Given the description of an element on the screen output the (x, y) to click on. 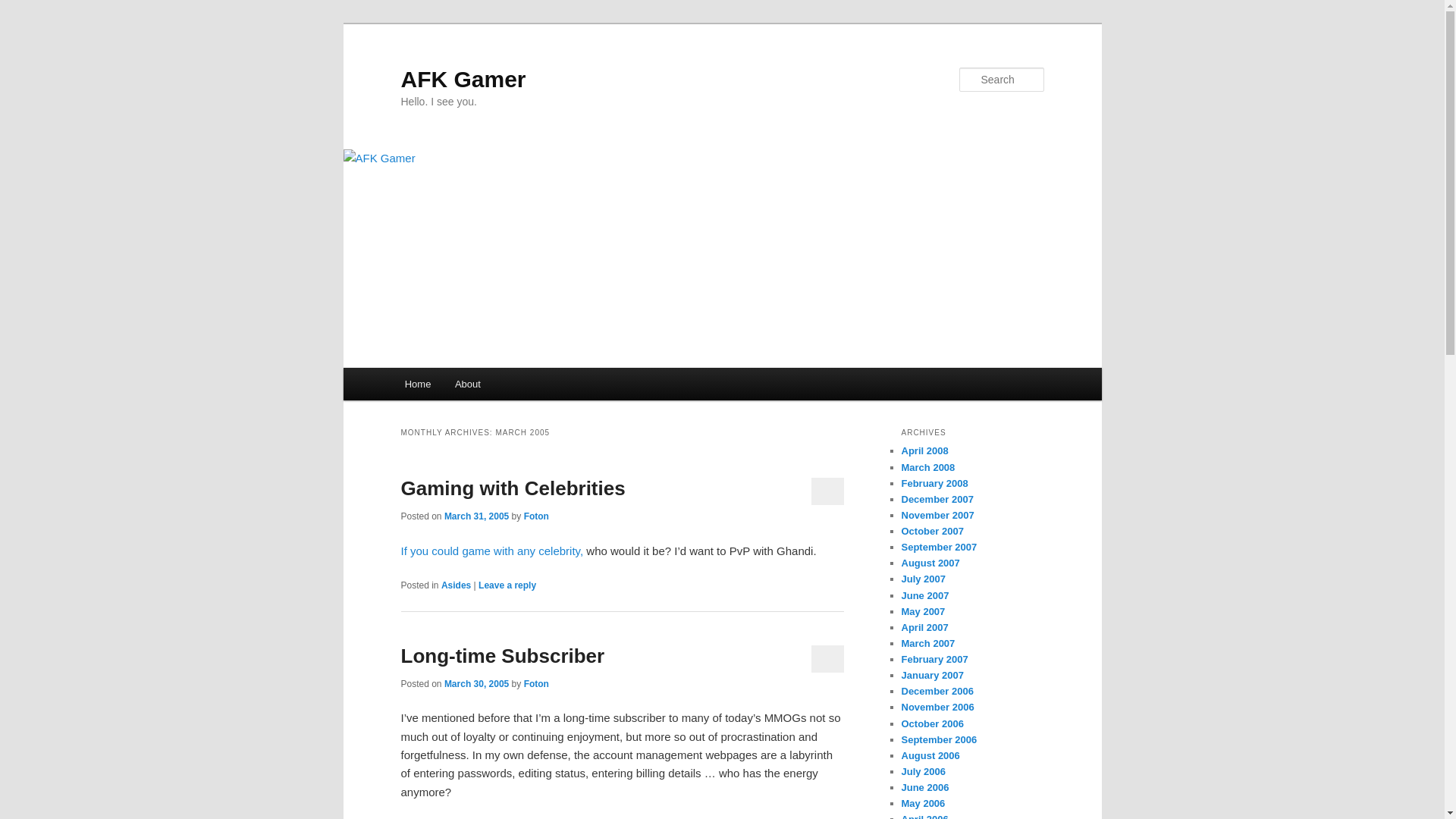
AFK Gamer (462, 78)
Home (417, 383)
View all posts by Foton (536, 683)
6:56 am (476, 683)
Foton (536, 683)
If you could game with any celebrity, (493, 550)
About (467, 383)
Asides (455, 584)
Foton (536, 516)
View all posts by Foton (536, 516)
